Given the description of an element on the screen output the (x, y) to click on. 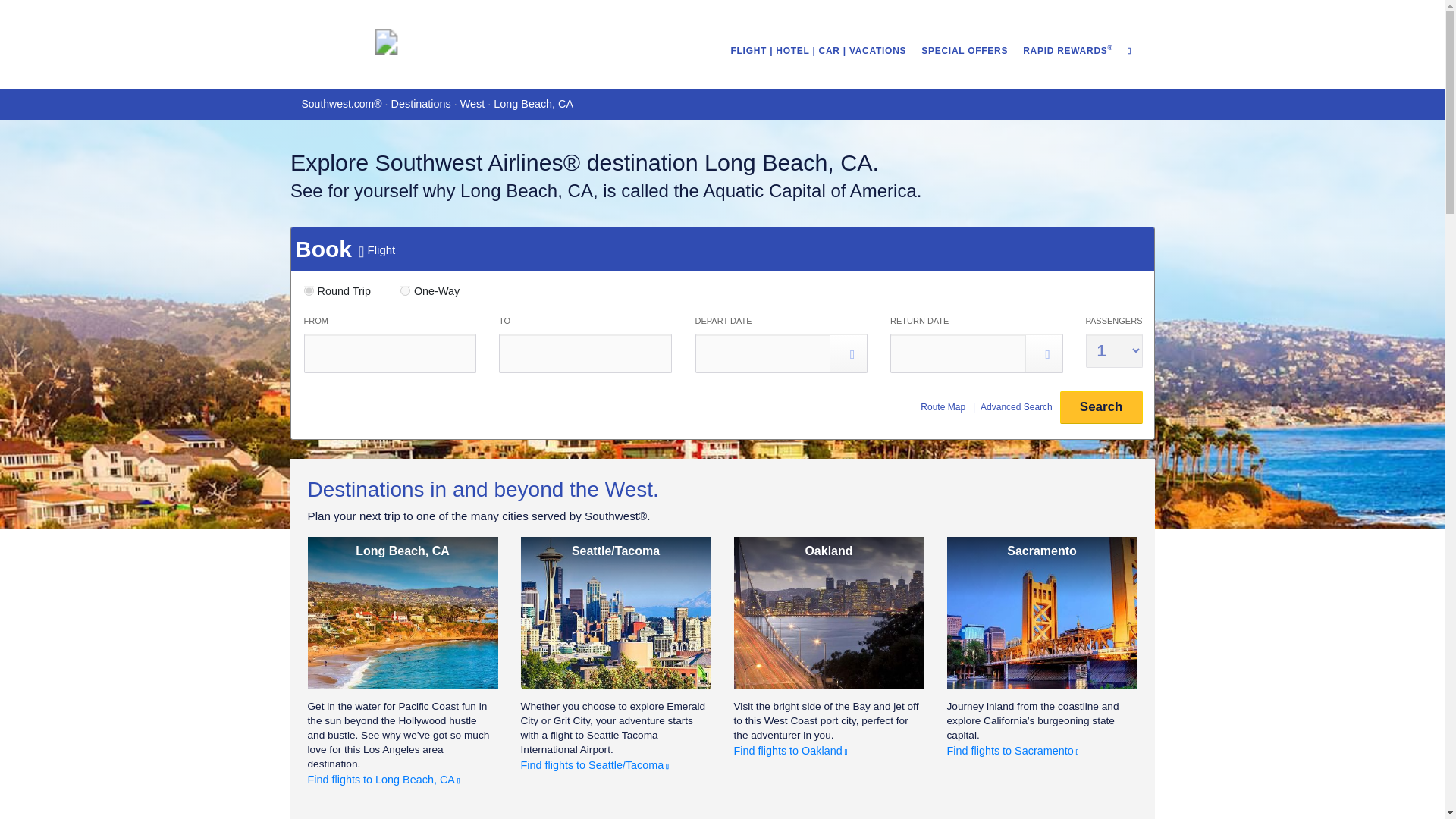
Southwest (385, 41)
RoundTrip (307, 290)
